Given the description of an element on the screen output the (x, y) to click on. 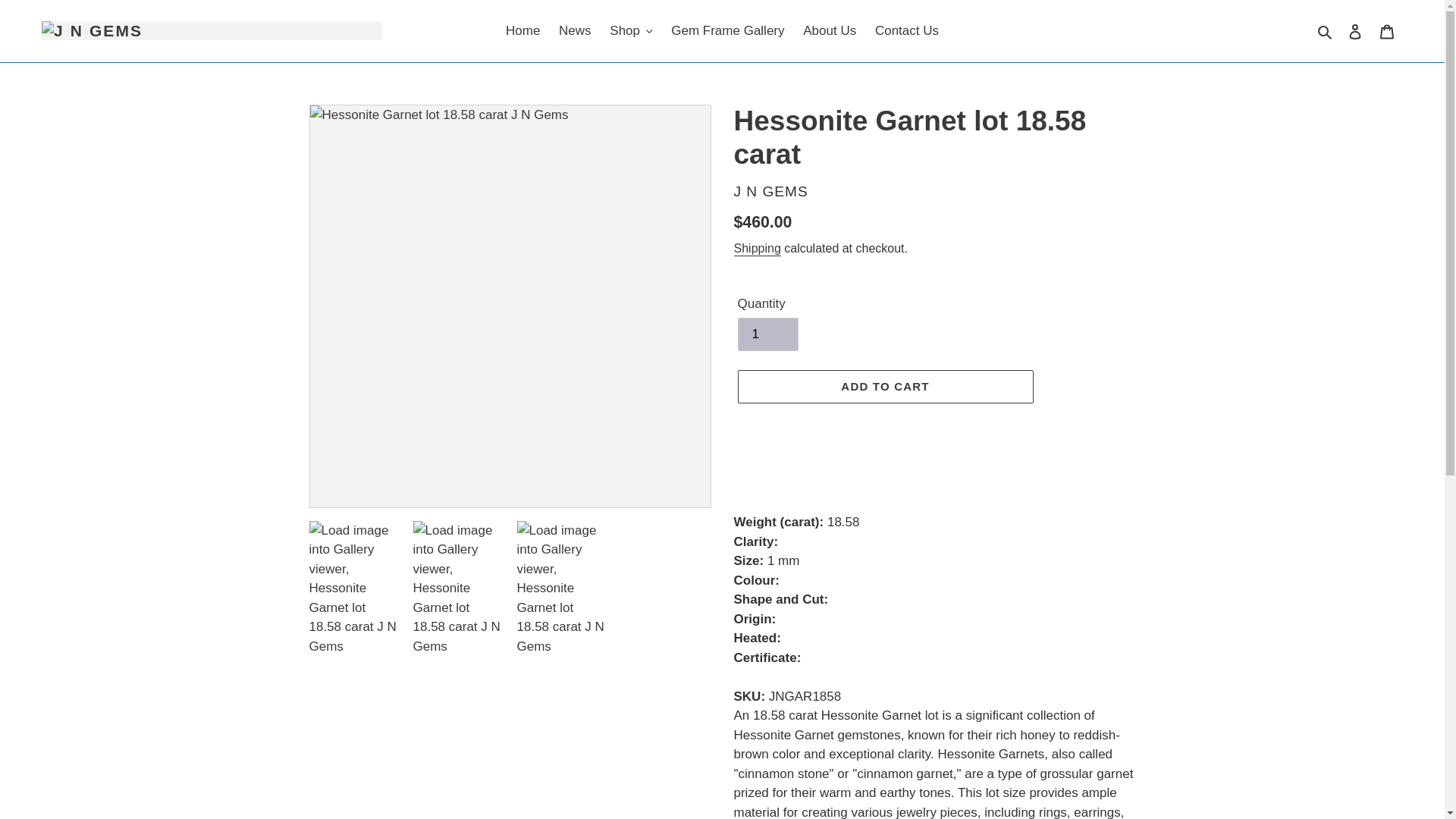
Shop (630, 30)
Gem Frame Gallery (727, 30)
News (574, 30)
1 (766, 334)
Home (522, 30)
